Given the description of an element on the screen output the (x, y) to click on. 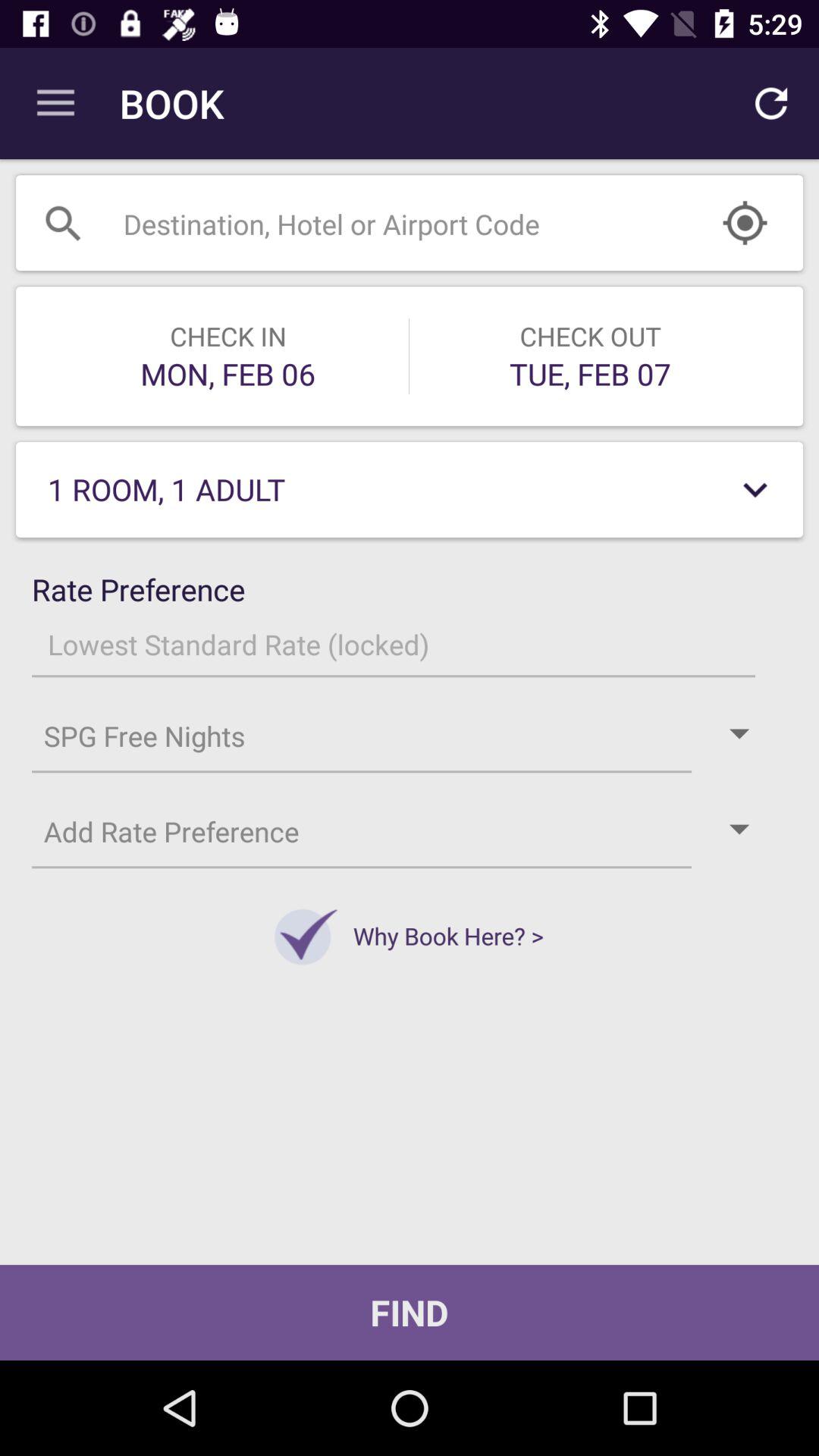
search (370, 222)
